Given the description of an element on the screen output the (x, y) to click on. 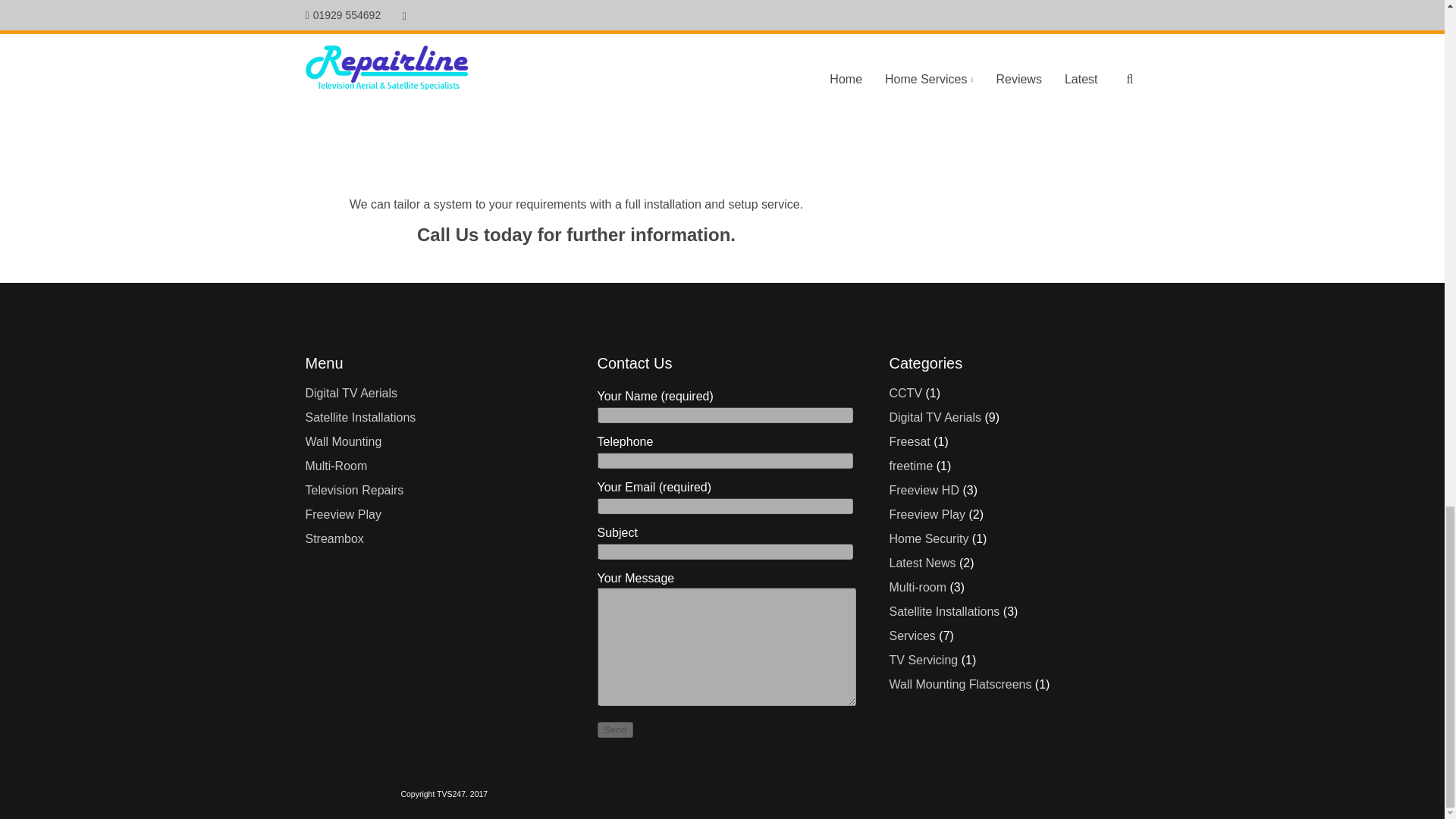
Streambox (333, 538)
television repairs across Dorset (923, 659)
We will Wall mount your Flatscreen TV (959, 684)
Send (614, 729)
CCTV (904, 392)
Satellite Installations (359, 417)
Repairline available services (911, 635)
Wall Mounting (342, 440)
Multi-Room (335, 465)
Freeview Play (342, 513)
